Given the description of an element on the screen output the (x, y) to click on. 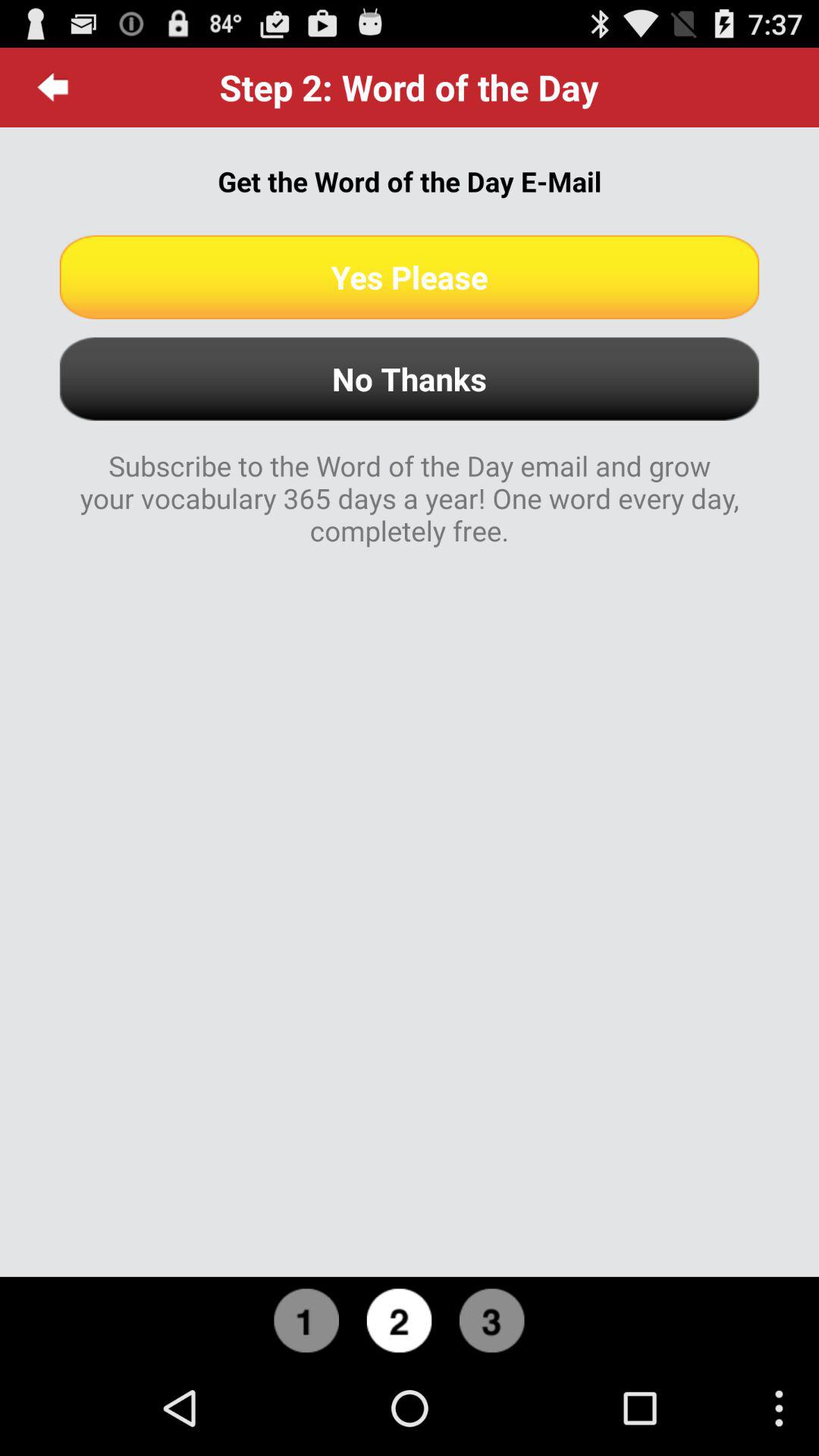
open the icon next to step 2 word icon (53, 87)
